Given the description of an element on the screen output the (x, y) to click on. 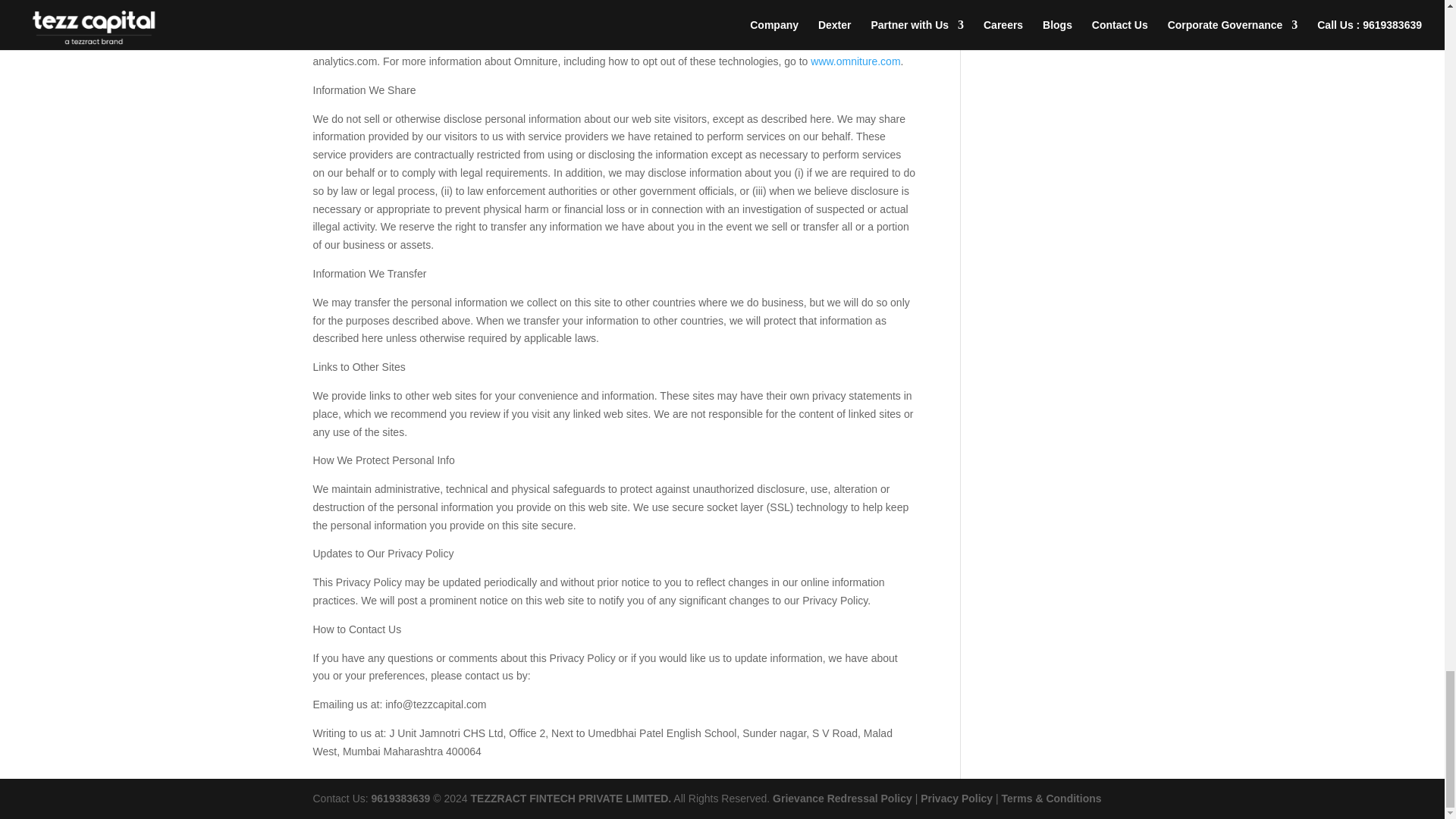
TEZZRACT FINTECH PRIVATE LIMITED. (569, 798)
Grievance Redressal Policy (842, 798)
www.omniture.com (854, 61)
9619383639 (400, 798)
Privacy Policy (956, 798)
